Given the description of an element on the screen output the (x, y) to click on. 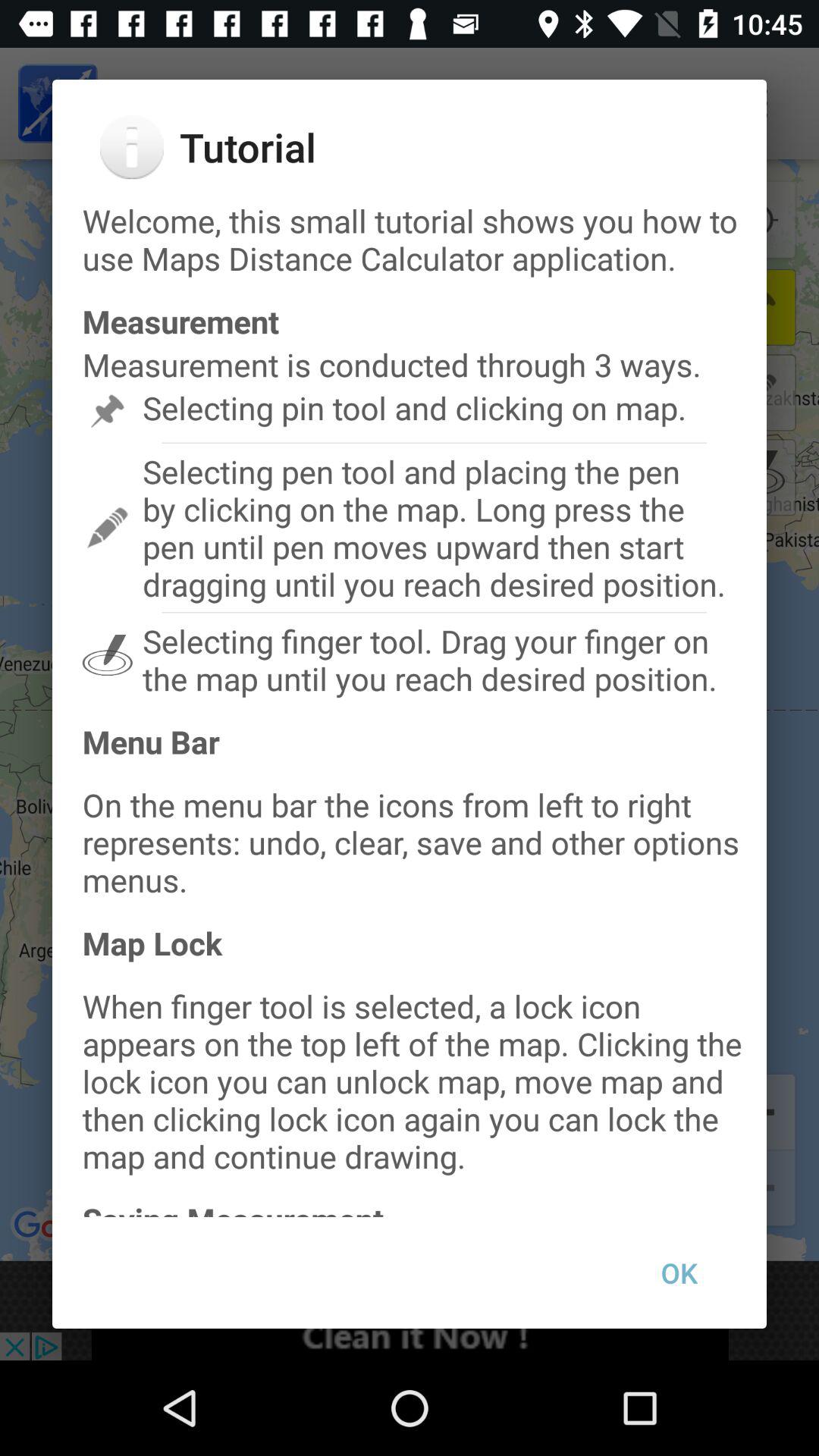
jump until ok (678, 1272)
